Given the description of an element on the screen output the (x, y) to click on. 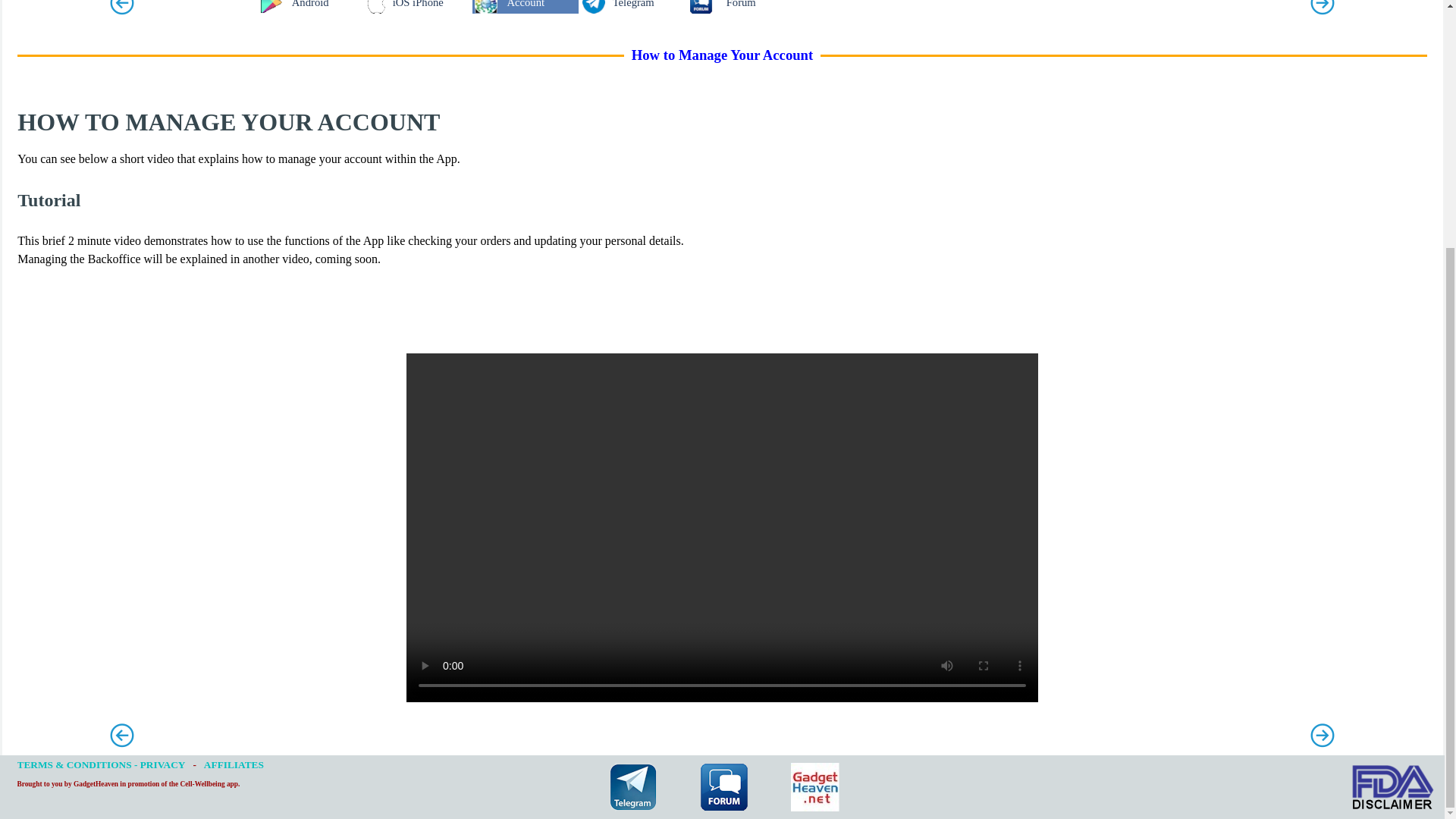
Cell-Wellbeing Forum (723, 786)
Gadget Heaven Net (814, 786)
Telegram (632, 786)
FDA Disclaimer (1391, 786)
